Given the description of an element on the screen output the (x, y) to click on. 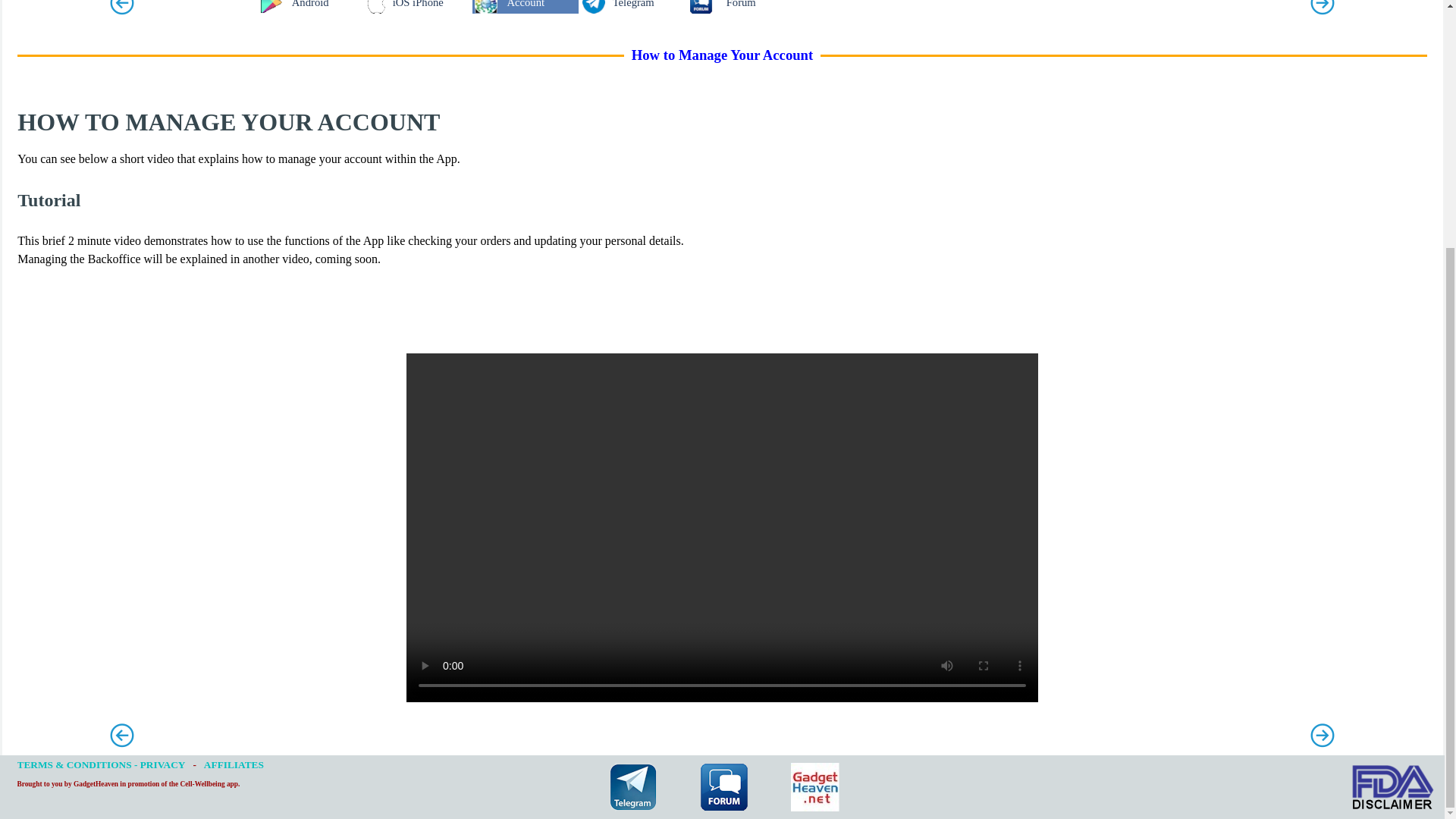
Cell-Wellbeing Forum (723, 786)
Gadget Heaven Net (814, 786)
Telegram (632, 786)
FDA Disclaimer (1391, 786)
